Given the description of an element on the screen output the (x, y) to click on. 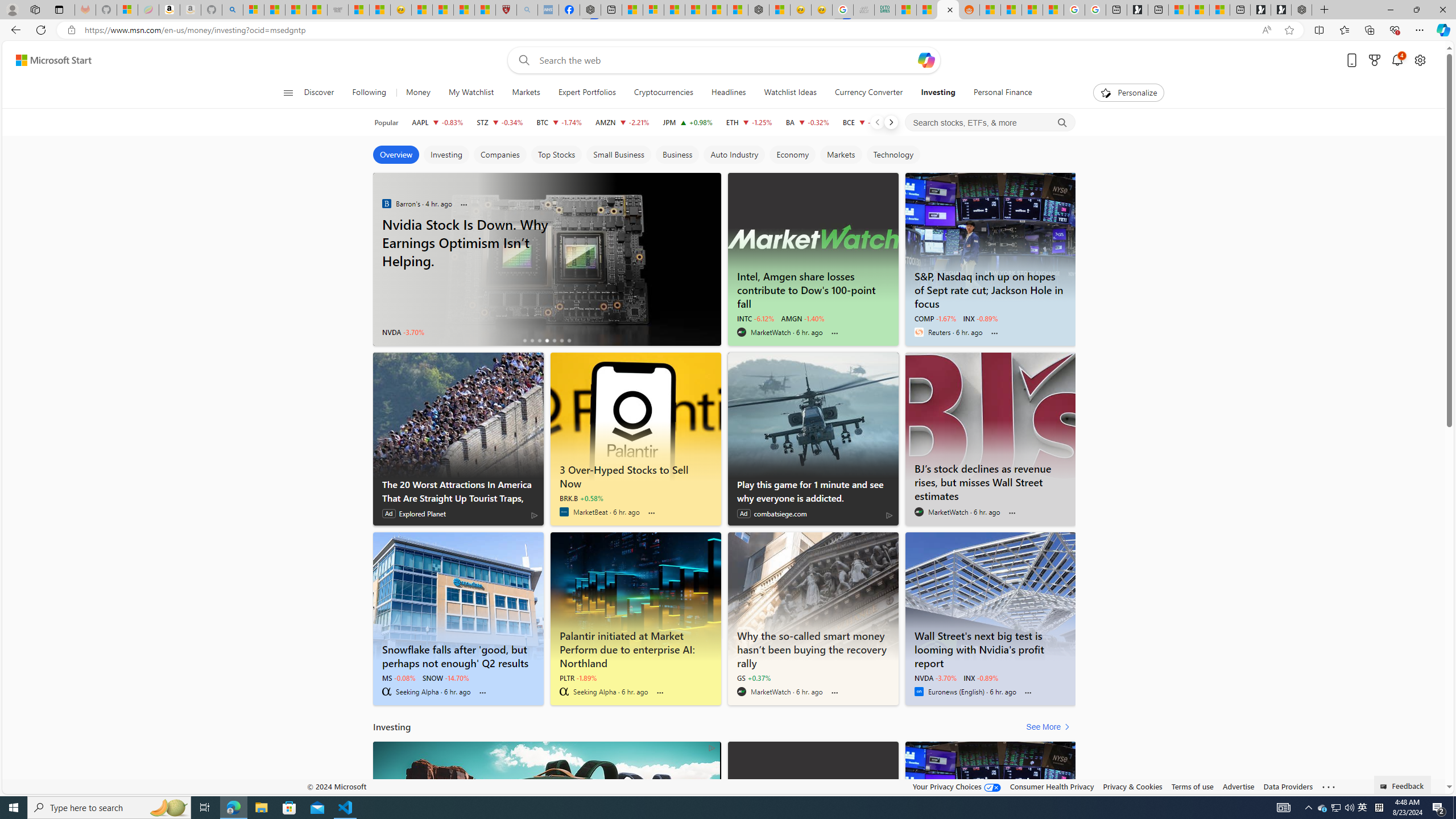
Microsoft Start (53, 60)
Barron's (386, 203)
Following (370, 92)
14 Common Myths Debunked By Scientific Facts (716, 9)
Close tab (949, 9)
Your Privacy Choices (956, 786)
My Watchlist (470, 92)
AMZN AMAZON.COM, INC. decrease 176.13 -3.98 -2.21% (622, 122)
Class: oneFooter_seeMore-DS-EntryPoint1-1 (1328, 786)
Recipes - MSN (421, 9)
Combat Siege (337, 9)
Open navigation menu (287, 92)
